Given the description of an element on the screen output the (x, y) to click on. 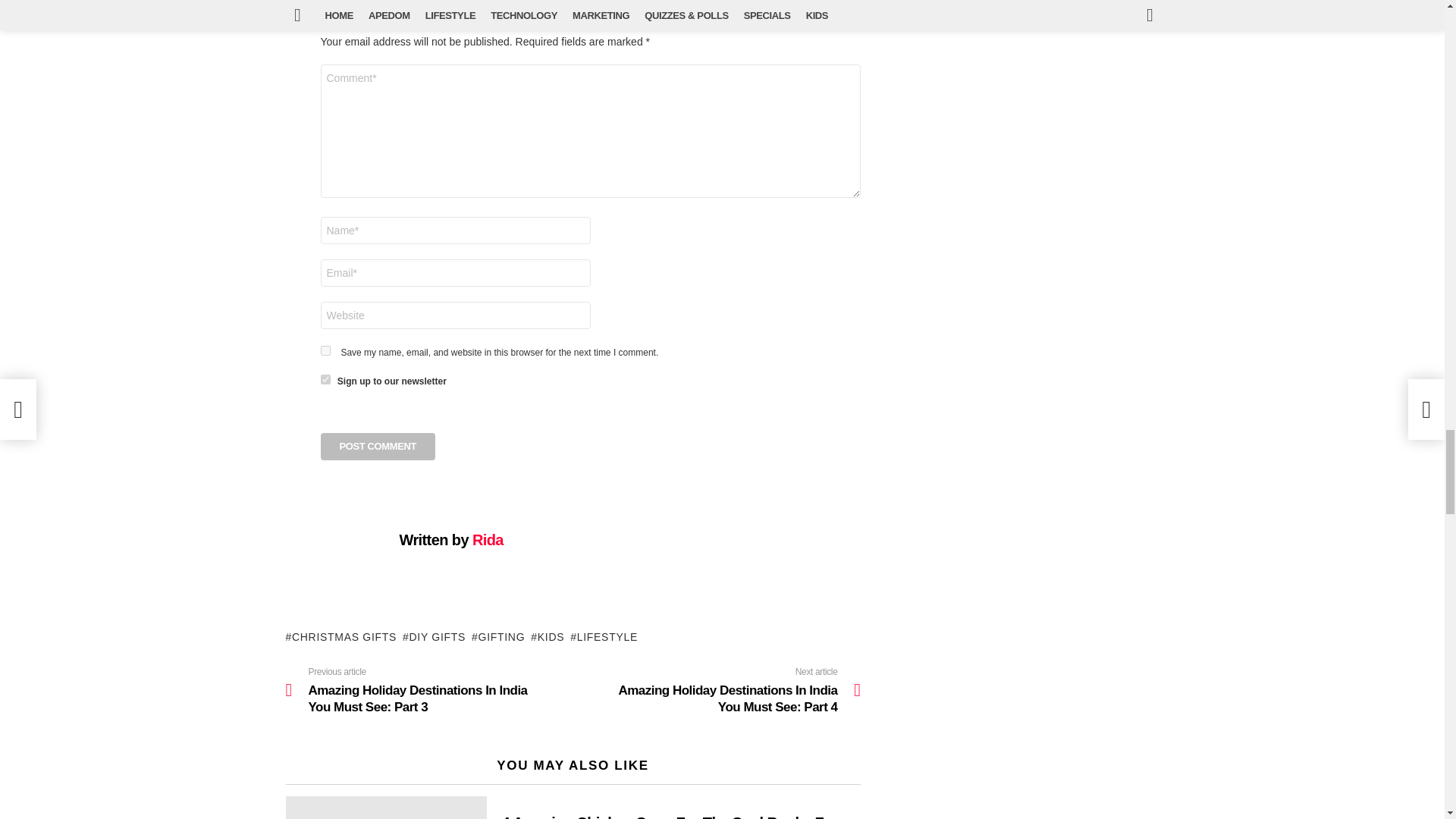
4 Amazing Chicken Soup For The Soul Books For Kids (385, 807)
Post Comment (377, 446)
1 (325, 379)
Post Comment (377, 446)
yes (325, 350)
